Given the description of an element on the screen output the (x, y) to click on. 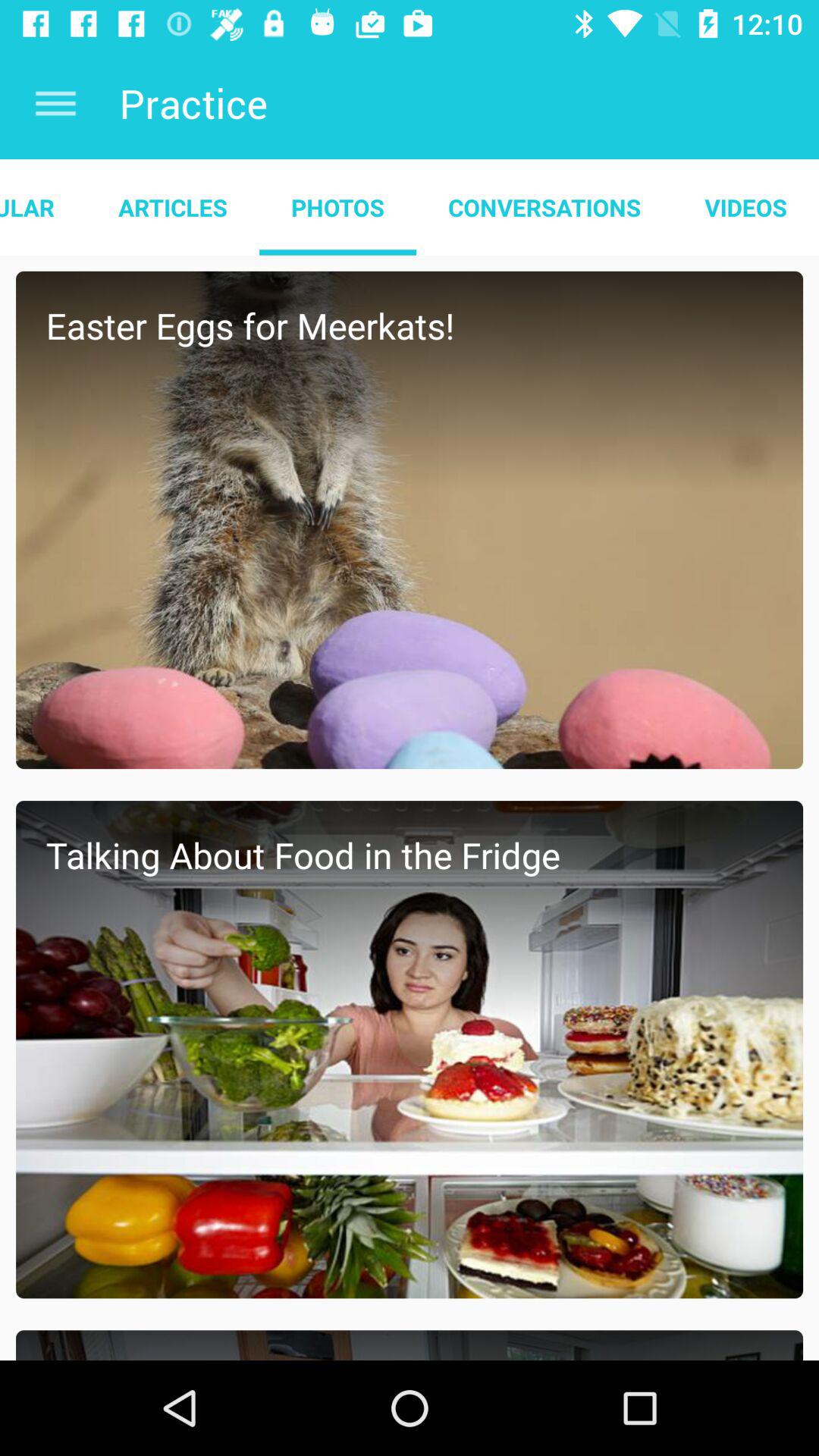
open the app to the right of conversations (745, 207)
